Given the description of an element on the screen output the (x, y) to click on. 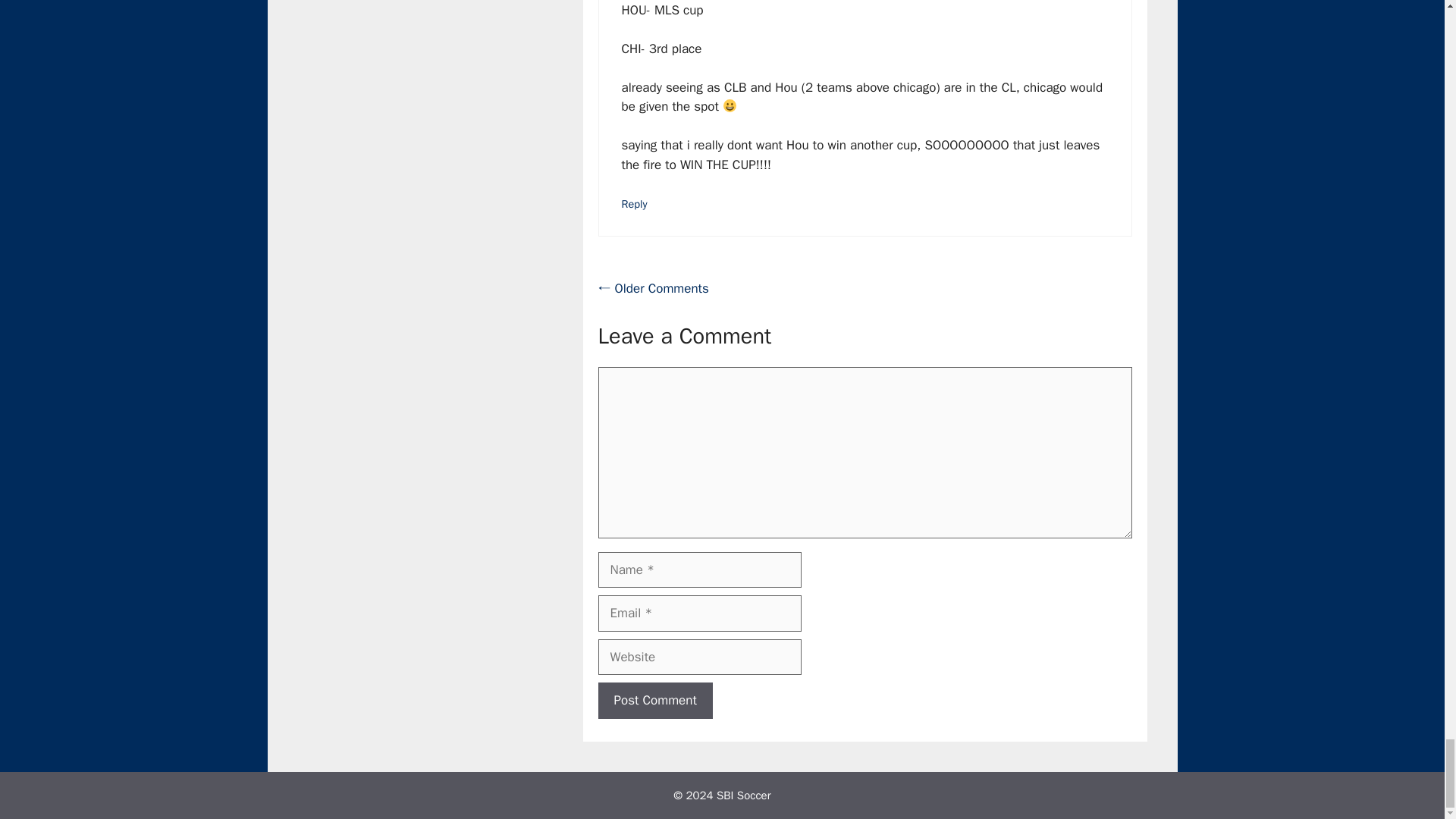
Post Comment (653, 700)
